Given the description of an element on the screen output the (x, y) to click on. 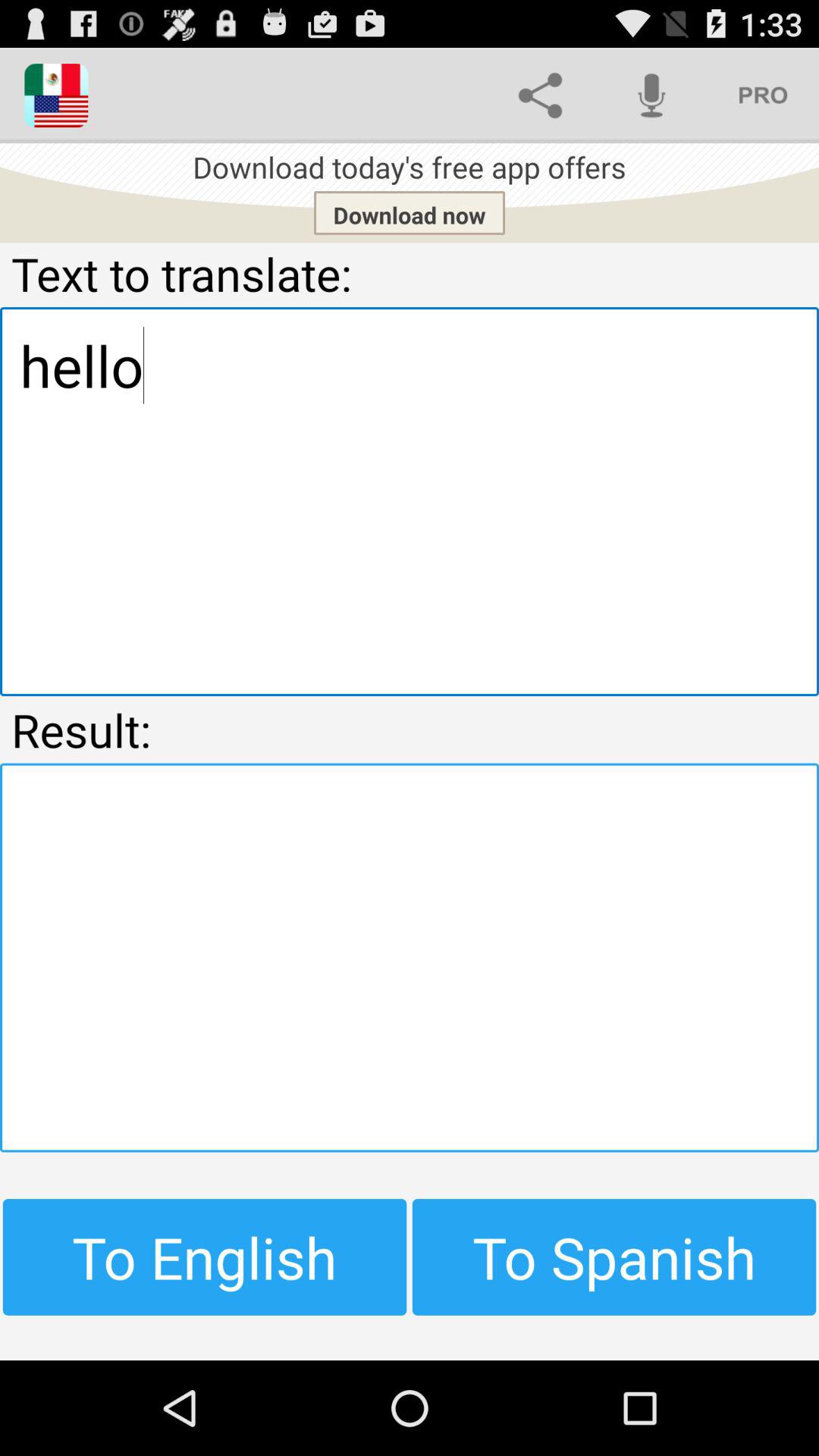
result of original text (409, 957)
